Given the description of an element on the screen output the (x, y) to click on. 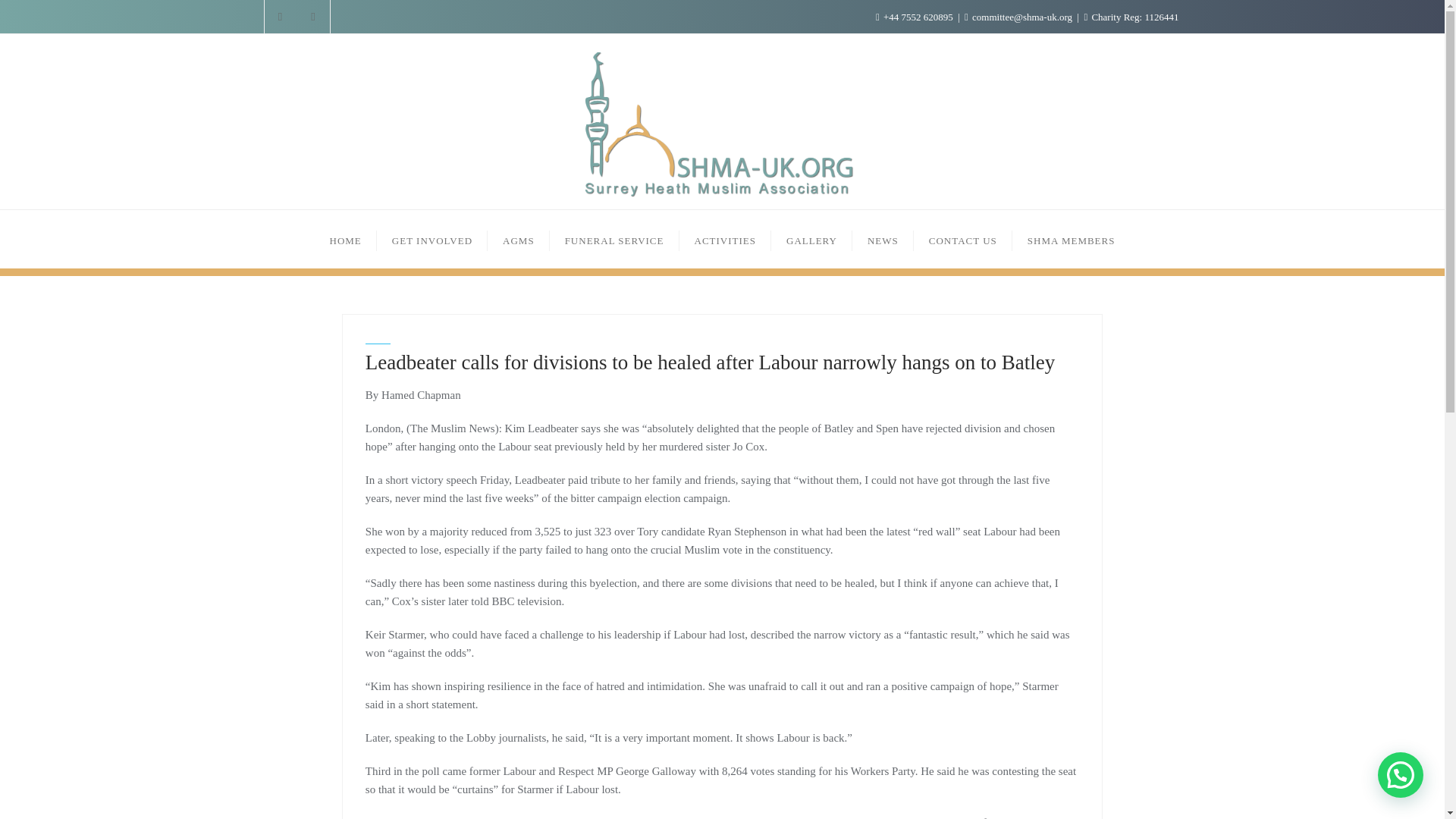
Charity Reg: 1126441 (1130, 16)
ACTIVITIES (725, 238)
CONTACT US (962, 238)
GALLERY (811, 238)
AGMS (518, 238)
GET INVOLVED (432, 238)
NEWS (882, 238)
SHMA MEMBERS (1071, 238)
FUNERAL SERVICE (614, 238)
HOME (345, 238)
